Given the description of an element on the screen output the (x, y) to click on. 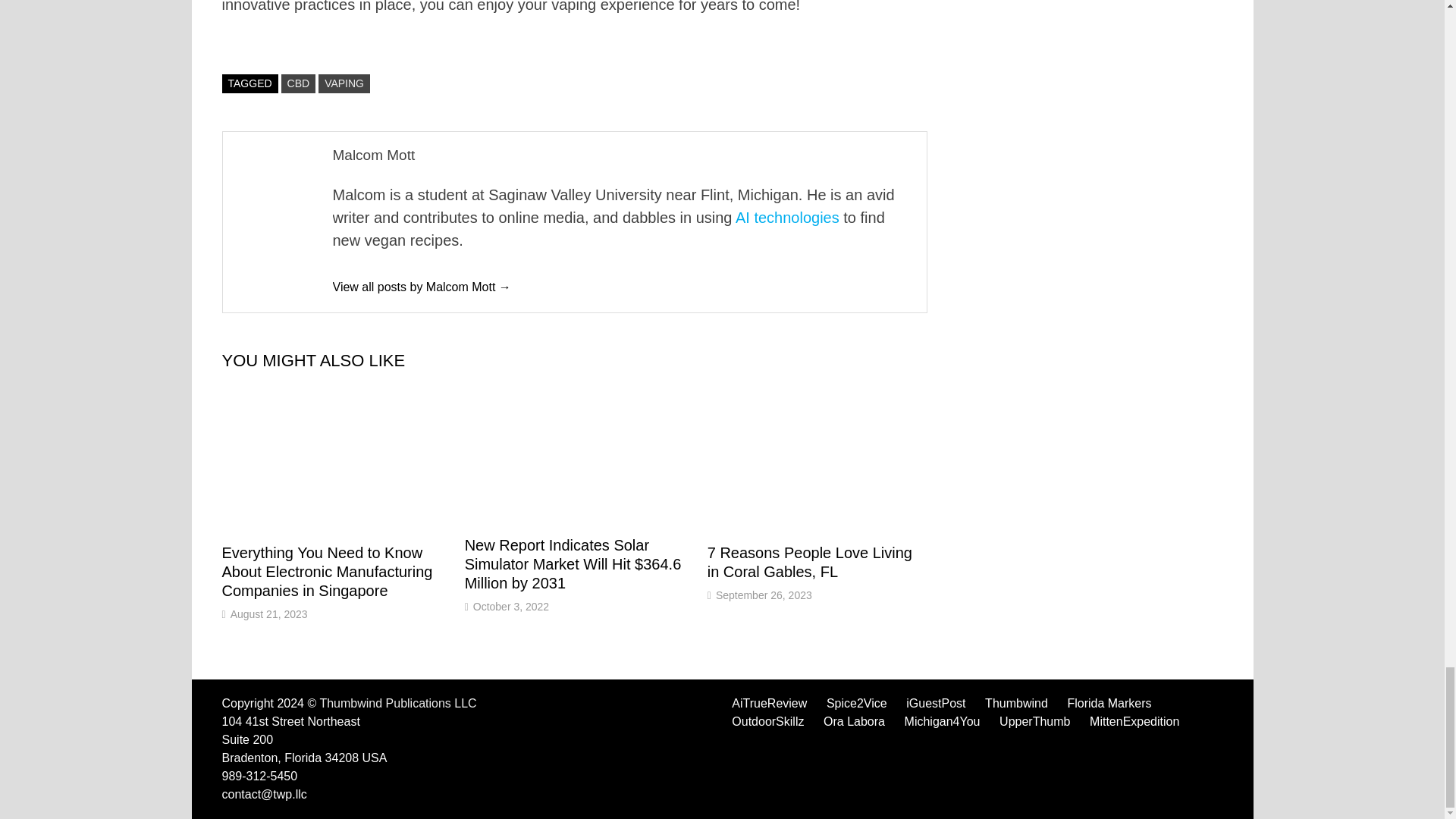
7 Reasons People Love Living in Coral Gables, FL (809, 561)
Malcom Mott (421, 286)
